Given the description of an element on the screen output the (x, y) to click on. 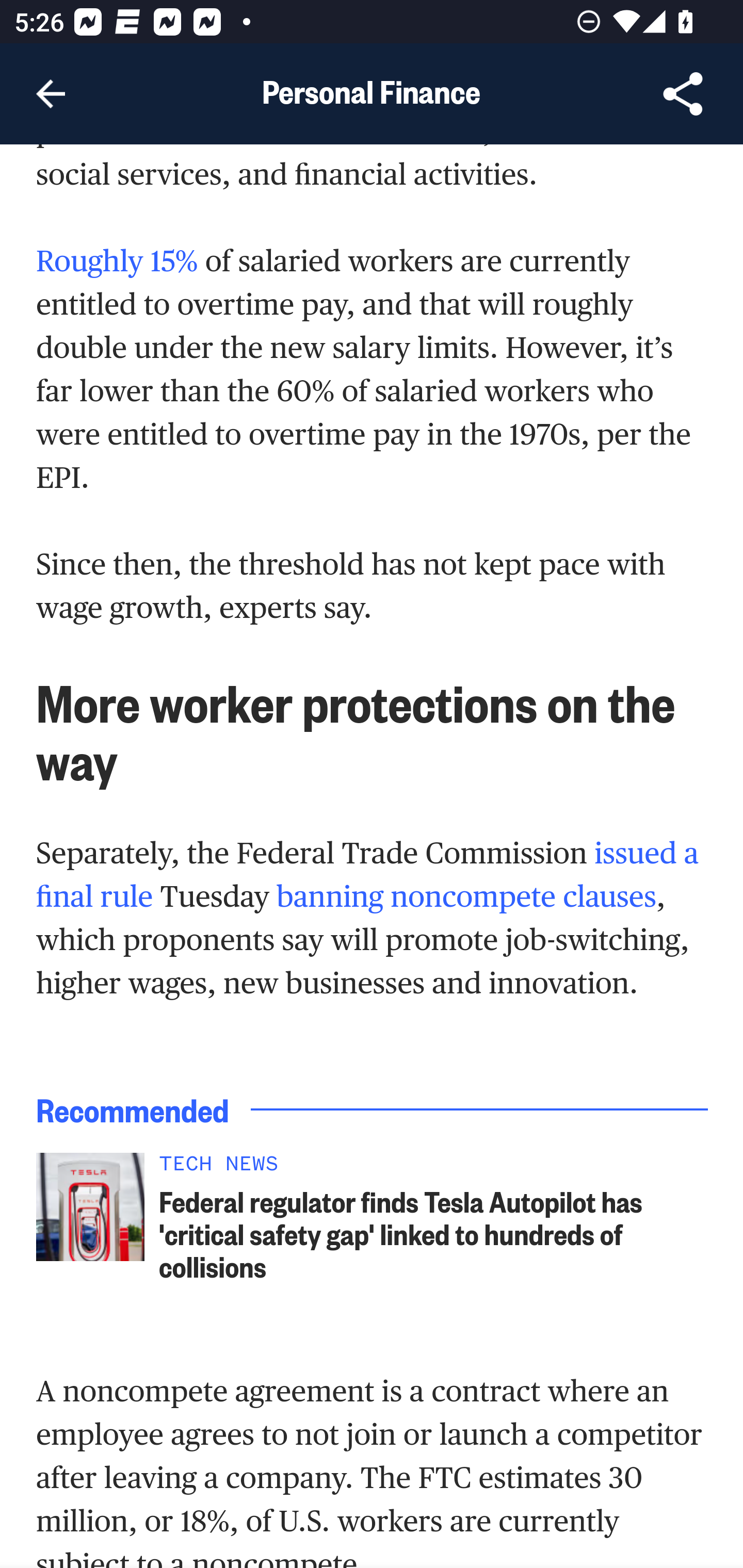
Navigate up (50, 93)
Share Article, button (683, 94)
Roughly 15% (117, 261)
issued a final rule (368, 875)
banning noncompete clauses (466, 897)
TECH NEWS (434, 1167)
